Given the description of an element on the screen output the (x, y) to click on. 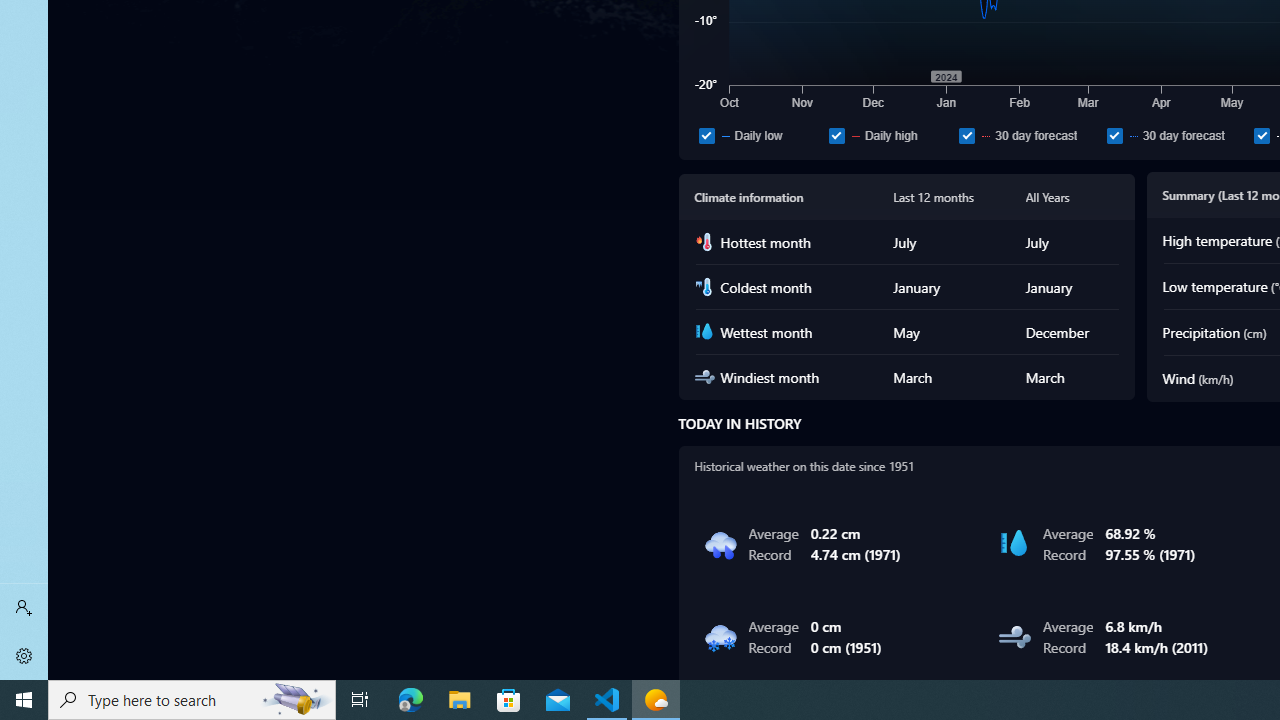
Start (24, 699)
Visual Studio Code - 1 running window (607, 699)
File Explorer (460, 699)
Microsoft Store (509, 699)
Task View (359, 699)
Weather - 1 running window (656, 699)
Microsoft Edge (411, 699)
Sign in (24, 607)
Settings (24, 655)
Search highlights icon opens search home window (295, 699)
Type here to search (191, 699)
